Given the description of an element on the screen output the (x, y) to click on. 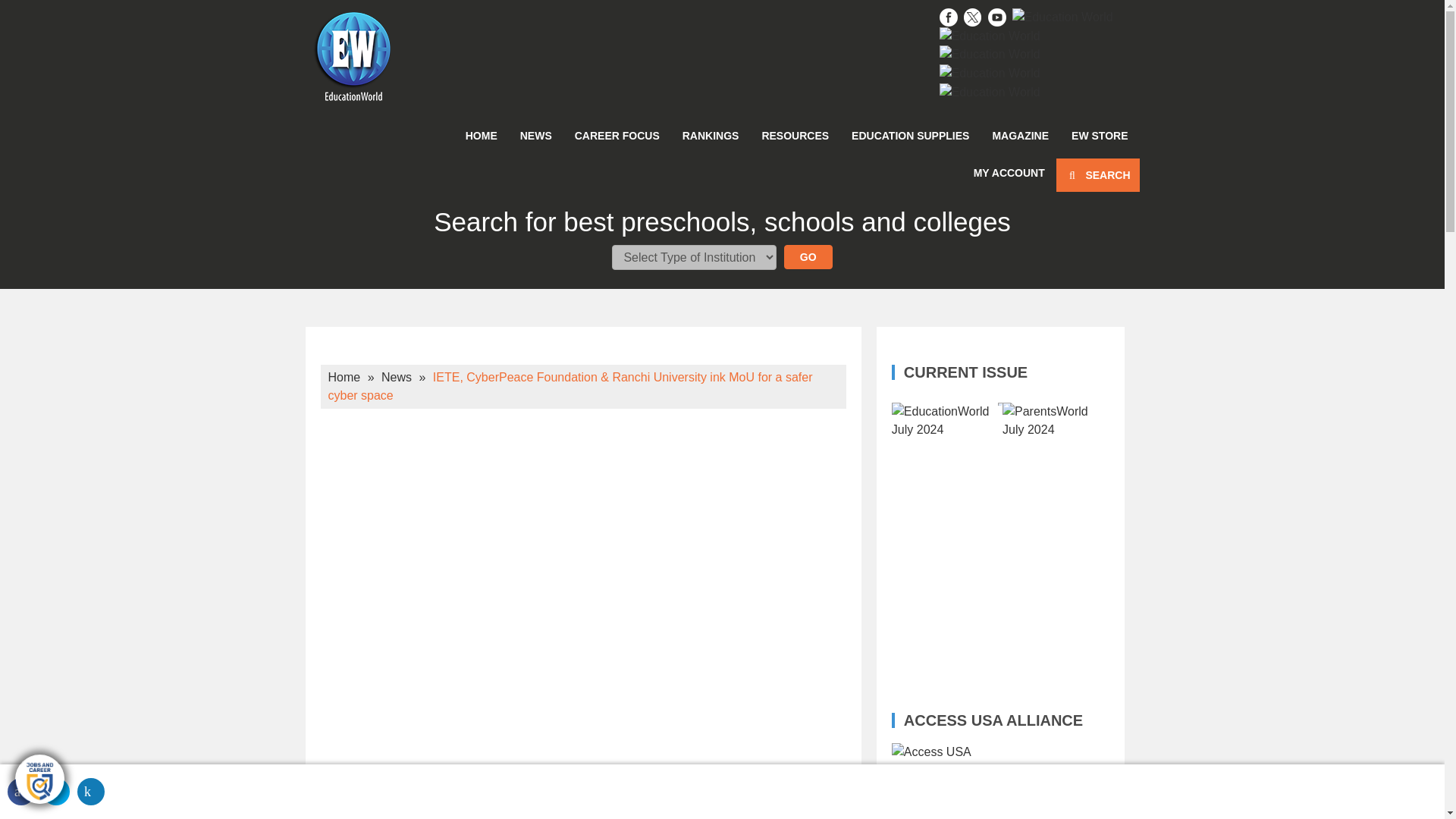
NEWS (535, 135)
RANKINGS (711, 135)
EDUCATION SUPPLIES (909, 135)
EducationWorld and ParentsWorld August 2024 issues (1005, 627)
MAGAZINE (1019, 135)
RESOURCES (794, 135)
CAREER FOCUS (617, 135)
HOME (481, 135)
Access USA Alliance (1000, 780)
GO (808, 256)
